Given the description of an element on the screen output the (x, y) to click on. 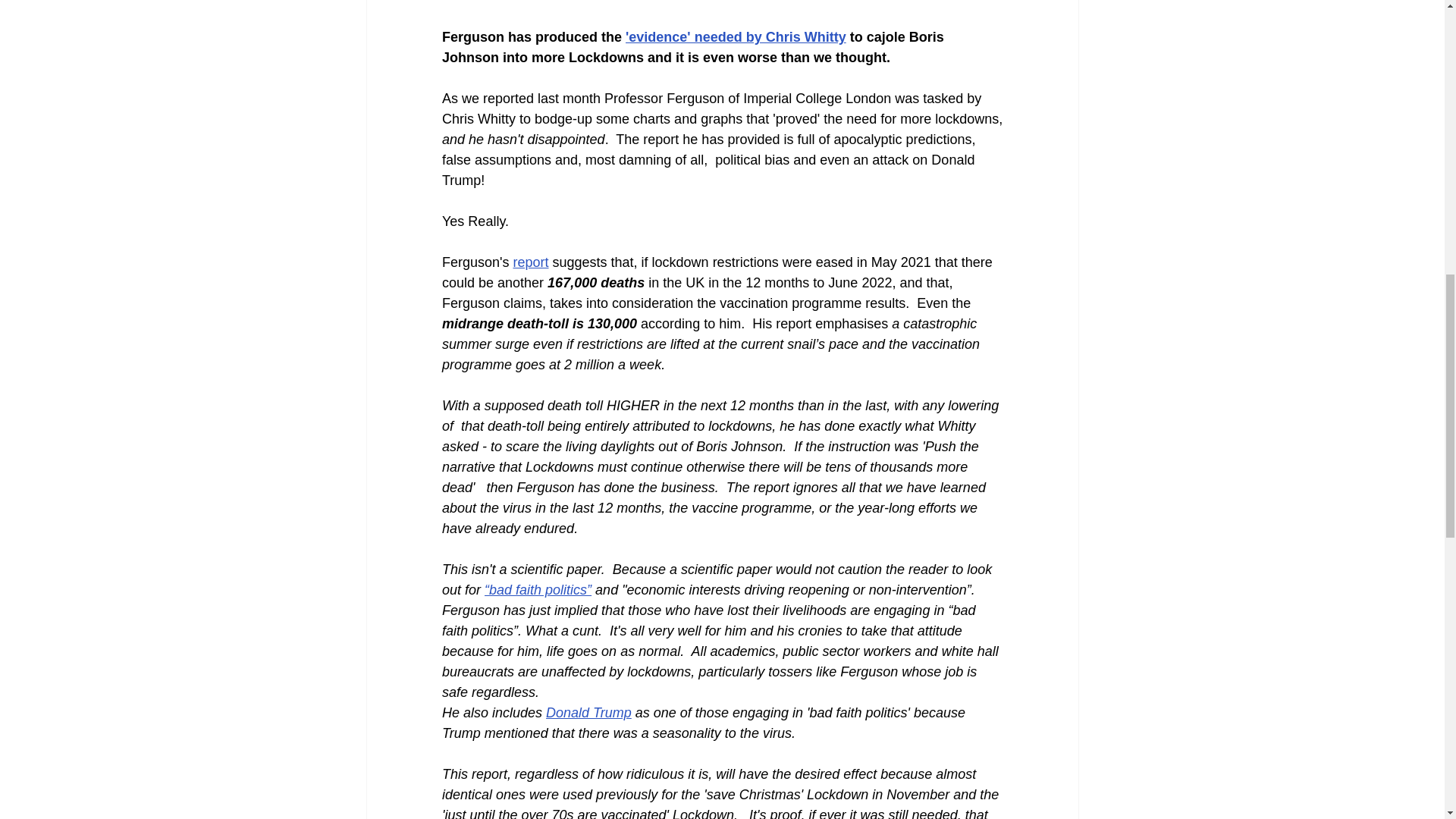
Donald Trump (588, 712)
'evidence' needed by Chris Whitty (735, 37)
report (530, 262)
